Given the description of an element on the screen output the (x, y) to click on. 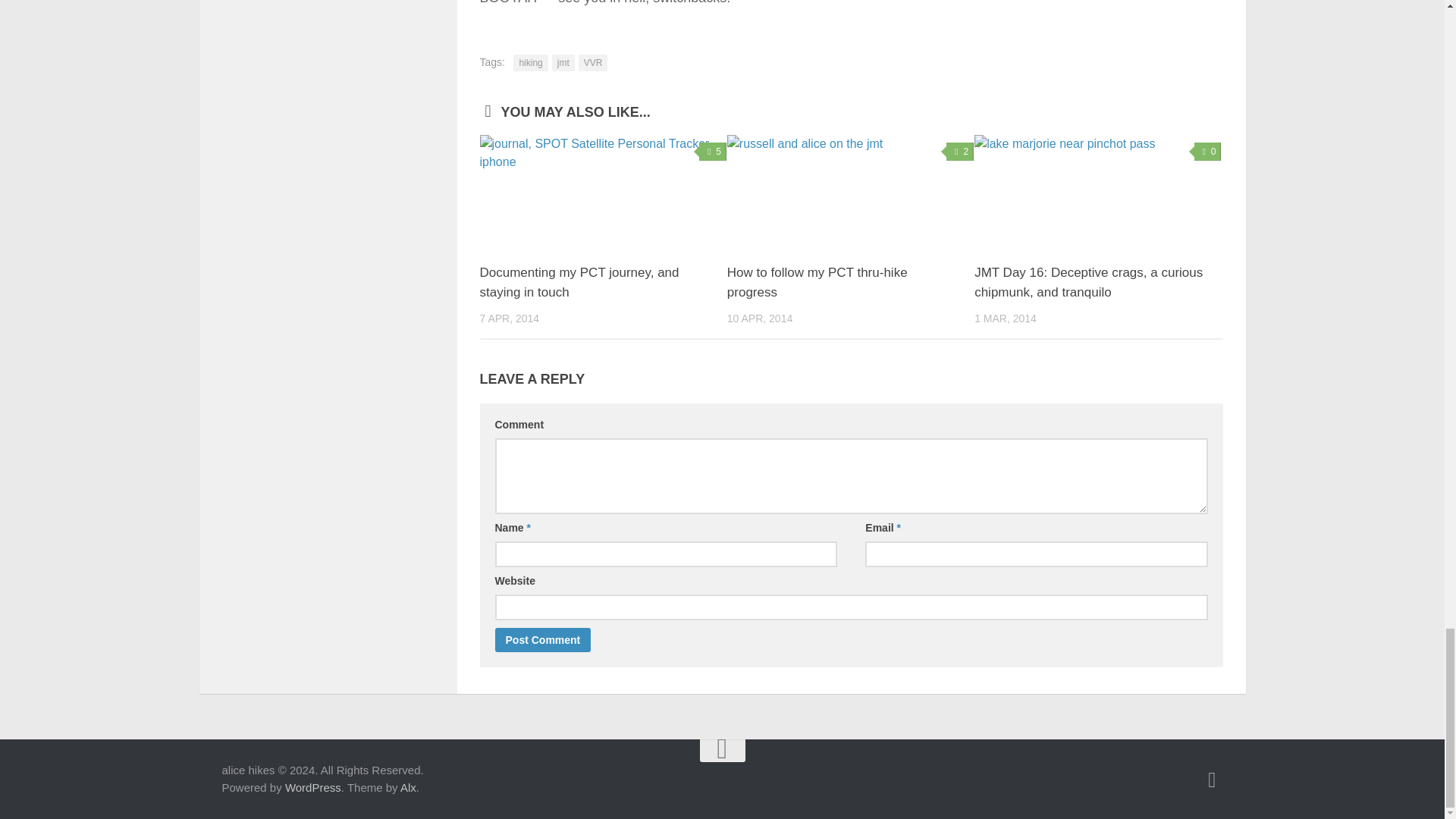
How to follow my PCT thru-hike progress (816, 282)
jmt (563, 62)
Documenting my PCT journey, and staying in touch (602, 192)
2 (960, 151)
Documenting my PCT journey, and staying in touch (578, 282)
hiking (530, 62)
Documenting my PCT journey, and staying in touch (578, 282)
How to follow my PCT thru-hike progress (850, 192)
Post Comment (543, 639)
How to follow my PCT thru-hike progress (816, 282)
Post Comment (543, 639)
0 (1207, 151)
